Given the description of an element on the screen output the (x, y) to click on. 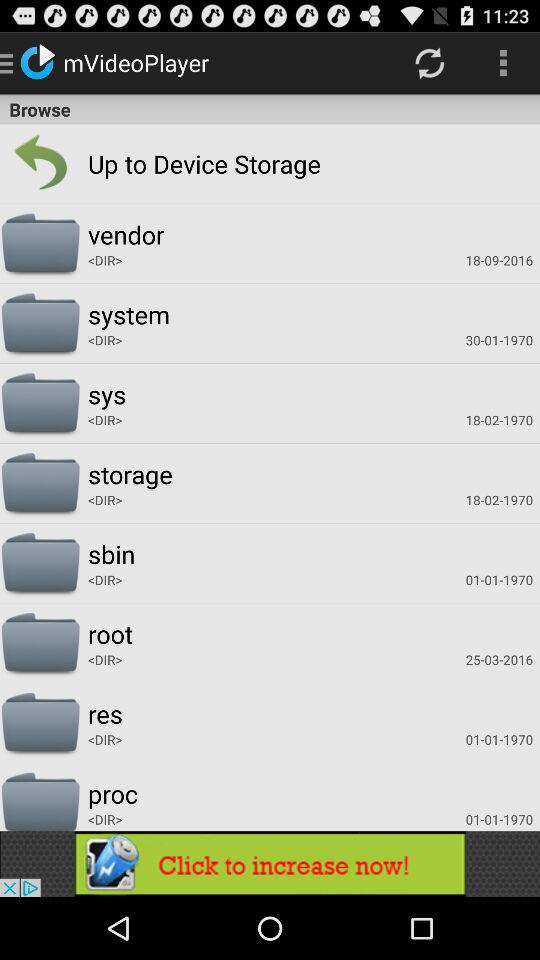
click on reload icon (430, 63)
